Given the description of an element on the screen output the (x, y) to click on. 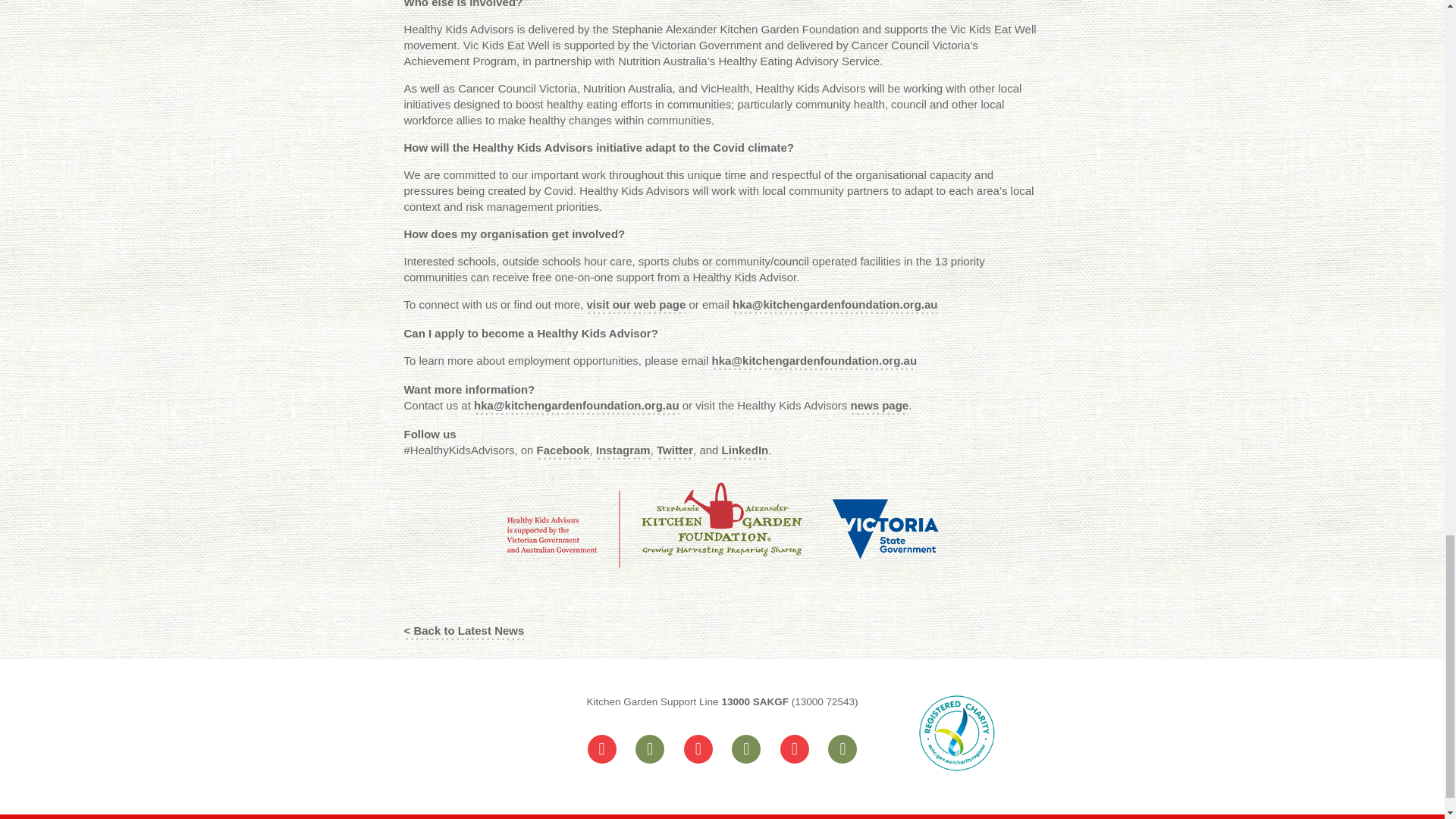
visit our web page (635, 304)
Twitter (674, 450)
news page (879, 405)
LinkedIn (745, 450)
Instagram (622, 450)
Facebook (563, 450)
